Given the description of an element on the screen output the (x, y) to click on. 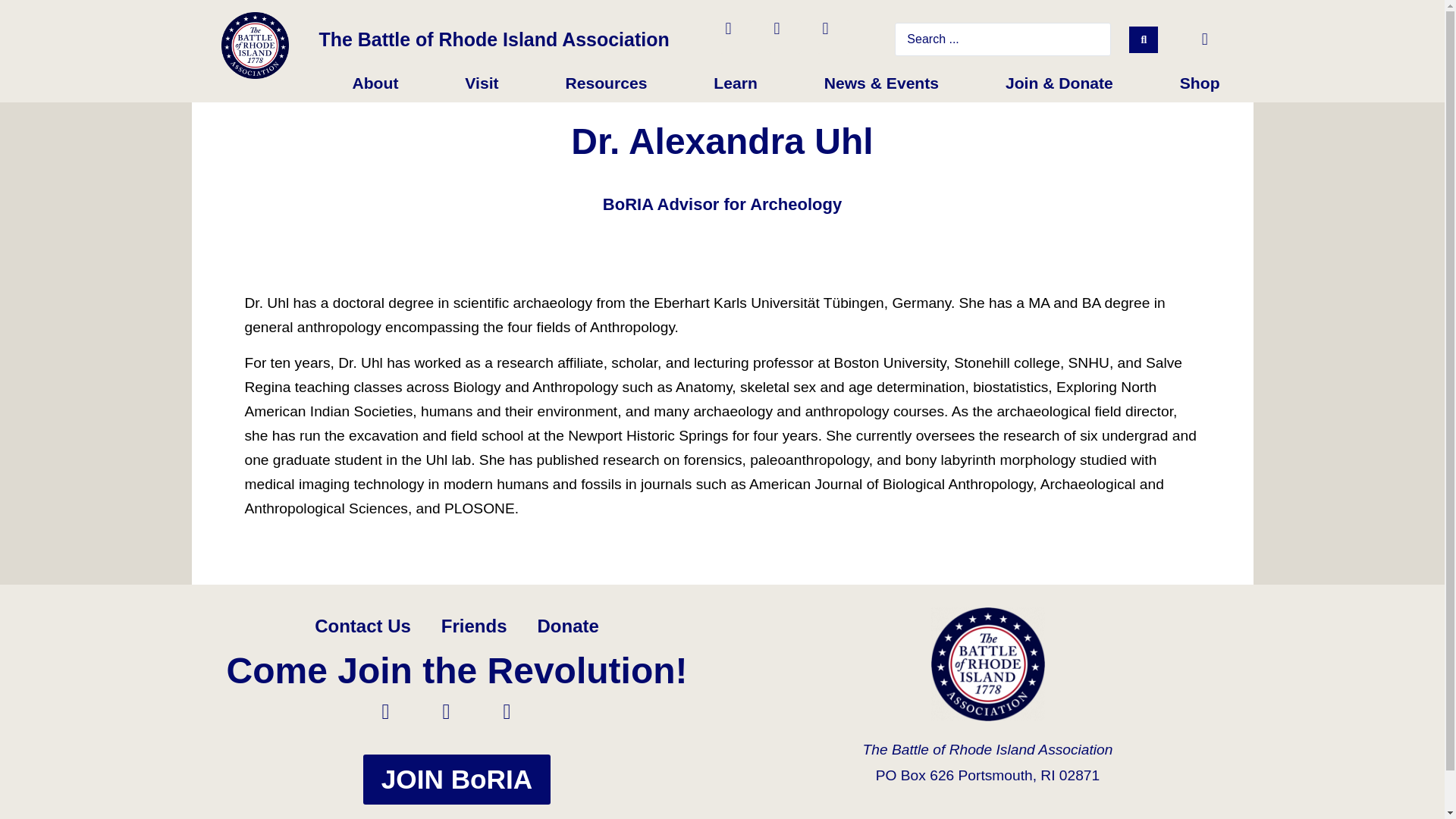
The Battle of Rhode Island Association (493, 38)
Visit (480, 83)
About (374, 83)
Resources (605, 83)
Learn (734, 83)
